Given the description of an element on the screen output the (x, y) to click on. 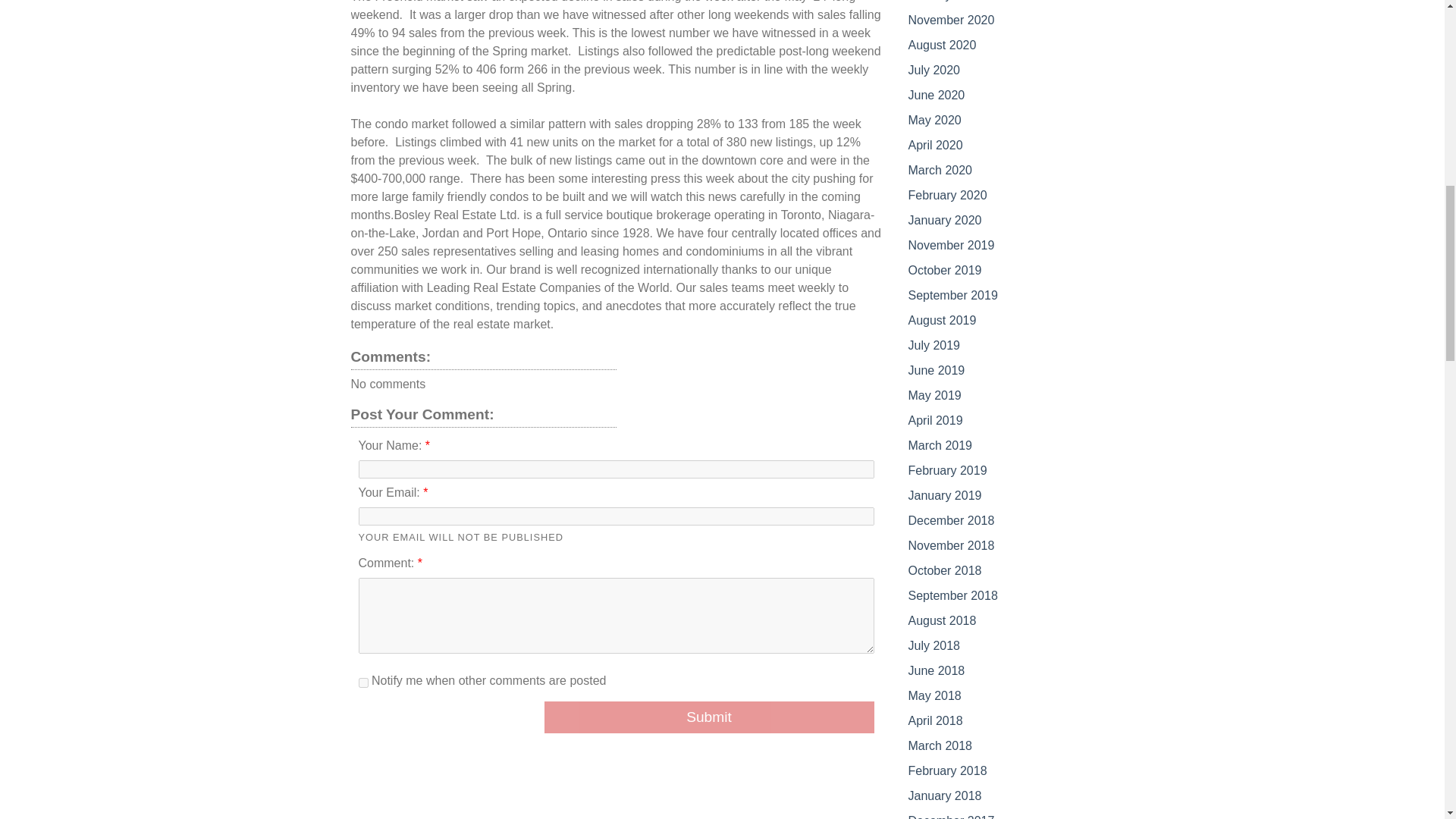
Submit (709, 717)
Notify me when other comments are posted (363, 682)
